Given the description of an element on the screen output the (x, y) to click on. 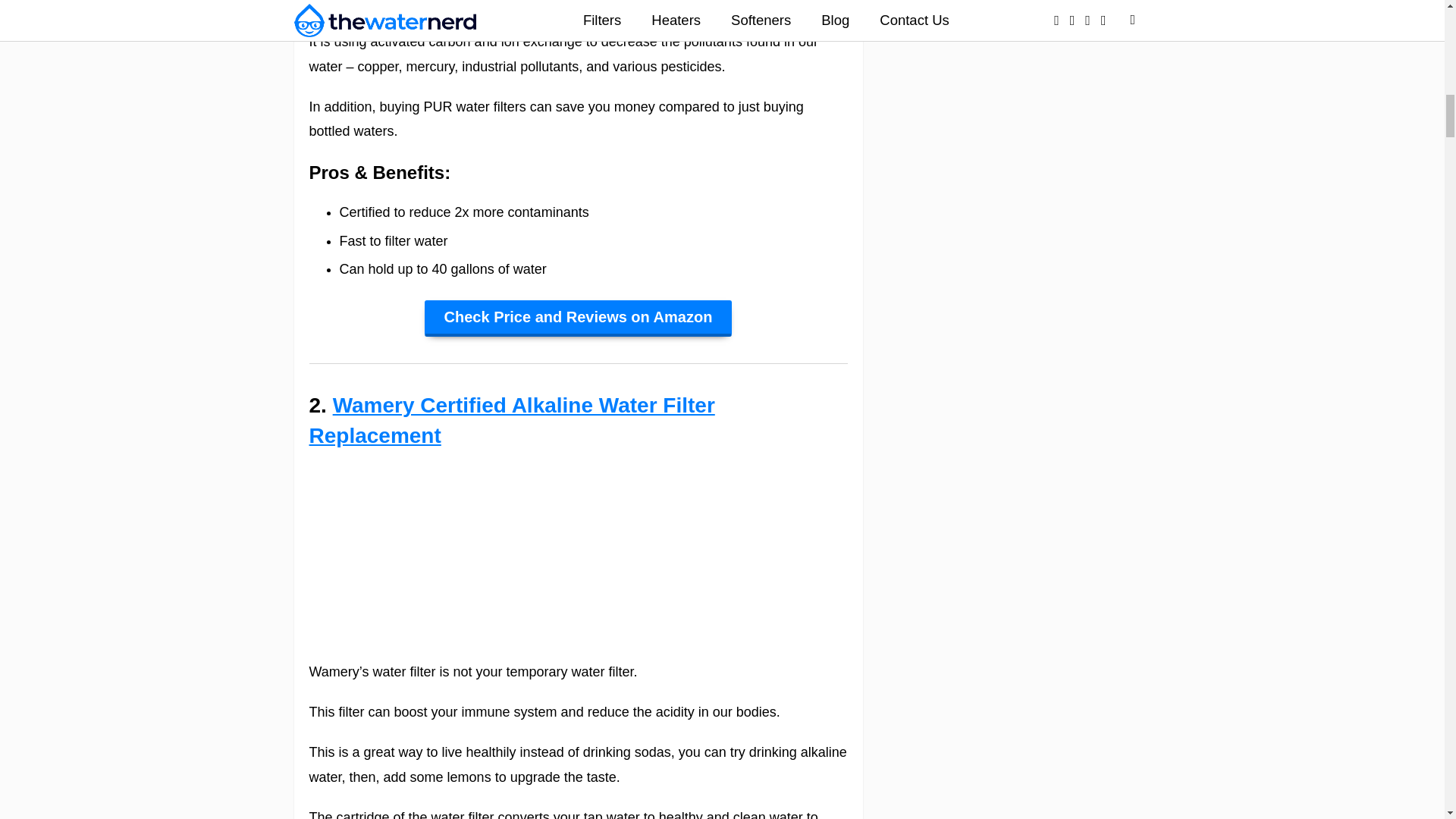
Check Price and Reviews on Amazon (578, 318)
Wamery Certified Alkaline Water Filter Replacement (511, 419)
Wamery Certified Alkaline Water Filter Replacement (511, 419)
Check Price and Reviews on Amazon (578, 318)
